Given the description of an element on the screen output the (x, y) to click on. 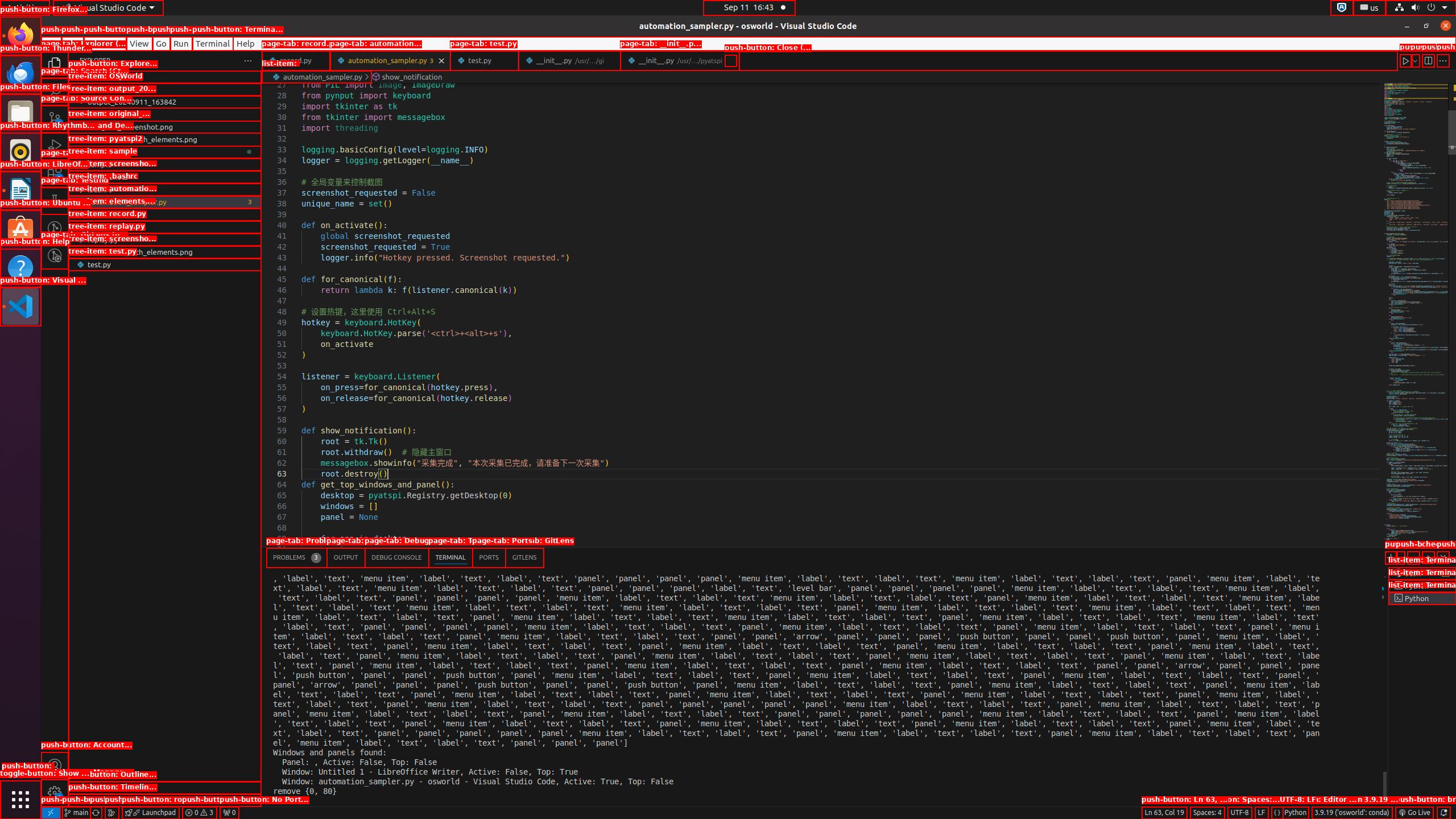
pyatspi2 Element type: tree-item (164, 151)
New Terminal (Ctrl+Shift+`) [Alt] Split Terminal (Ctrl+Shift+5) Element type: push-button (1390, 557)
record.py Element type: page-tab (295, 60)
Python Element type: push-button (1295, 812)
Extensions (Ctrl+Shift+X) - 2 require update Element type: page-tab (54, 173)
